Given the description of an element on the screen output the (x, y) to click on. 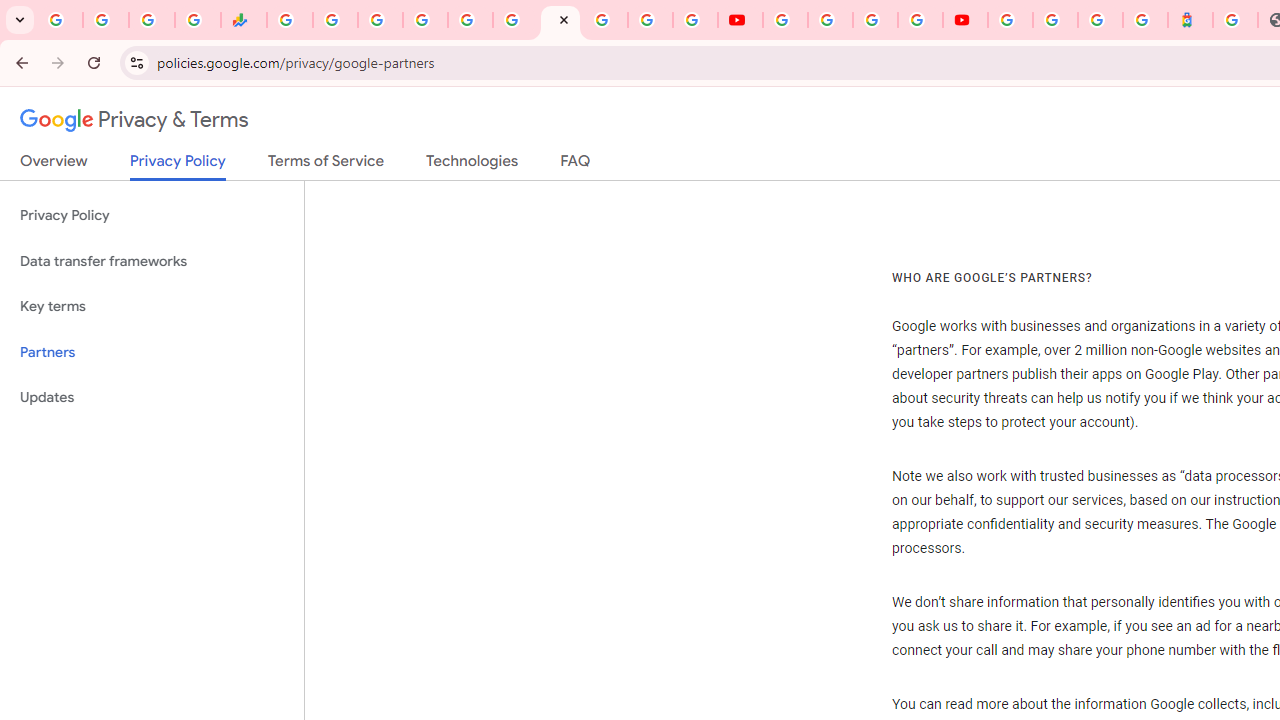
Sign in - Google Accounts (425, 20)
